Given the description of an element on the screen output the (x, y) to click on. 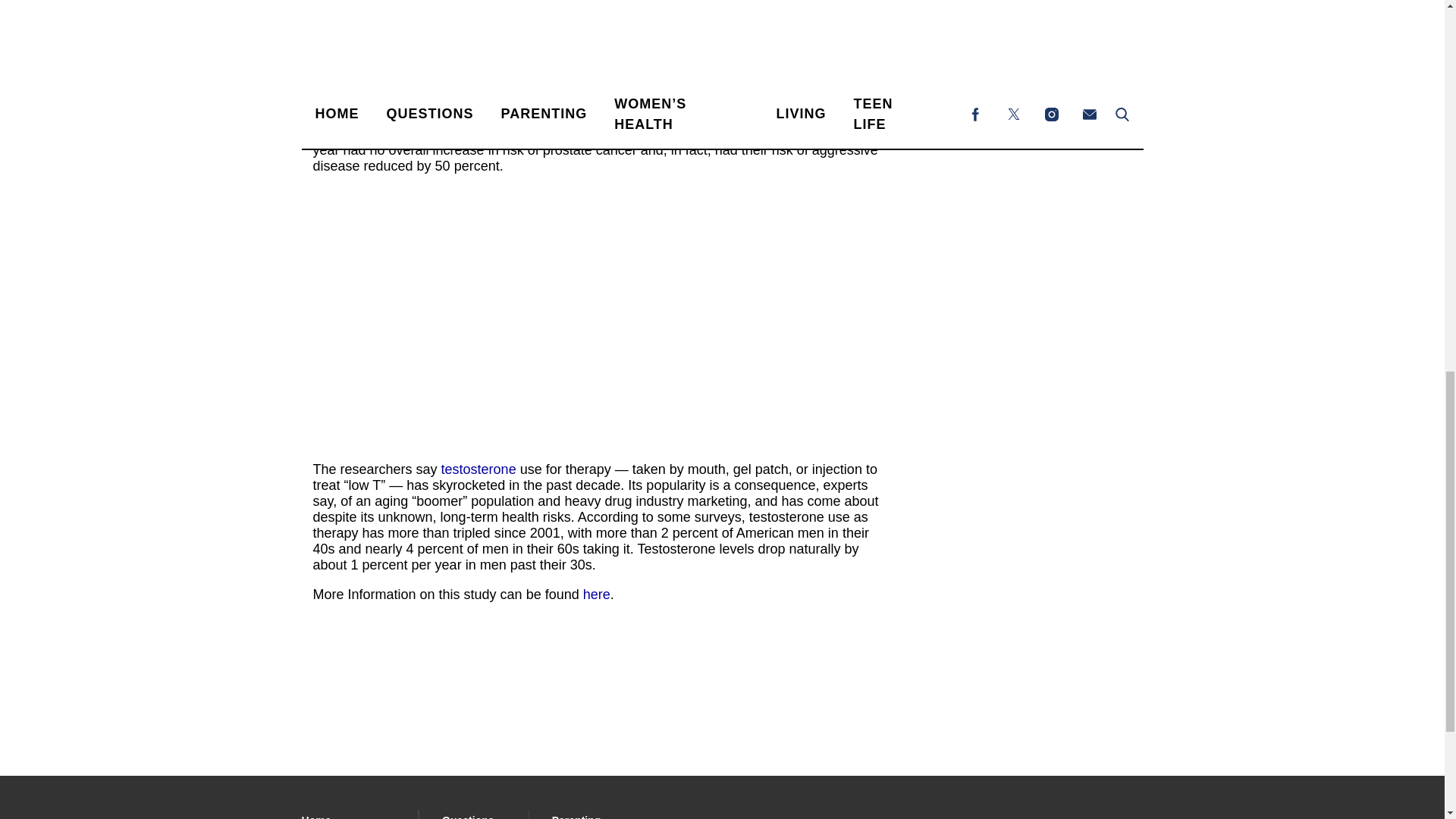
Home (316, 816)
here (596, 594)
Questions (468, 816)
Parenting (576, 816)
testosterone (478, 468)
